Given the description of an element on the screen output the (x, y) to click on. 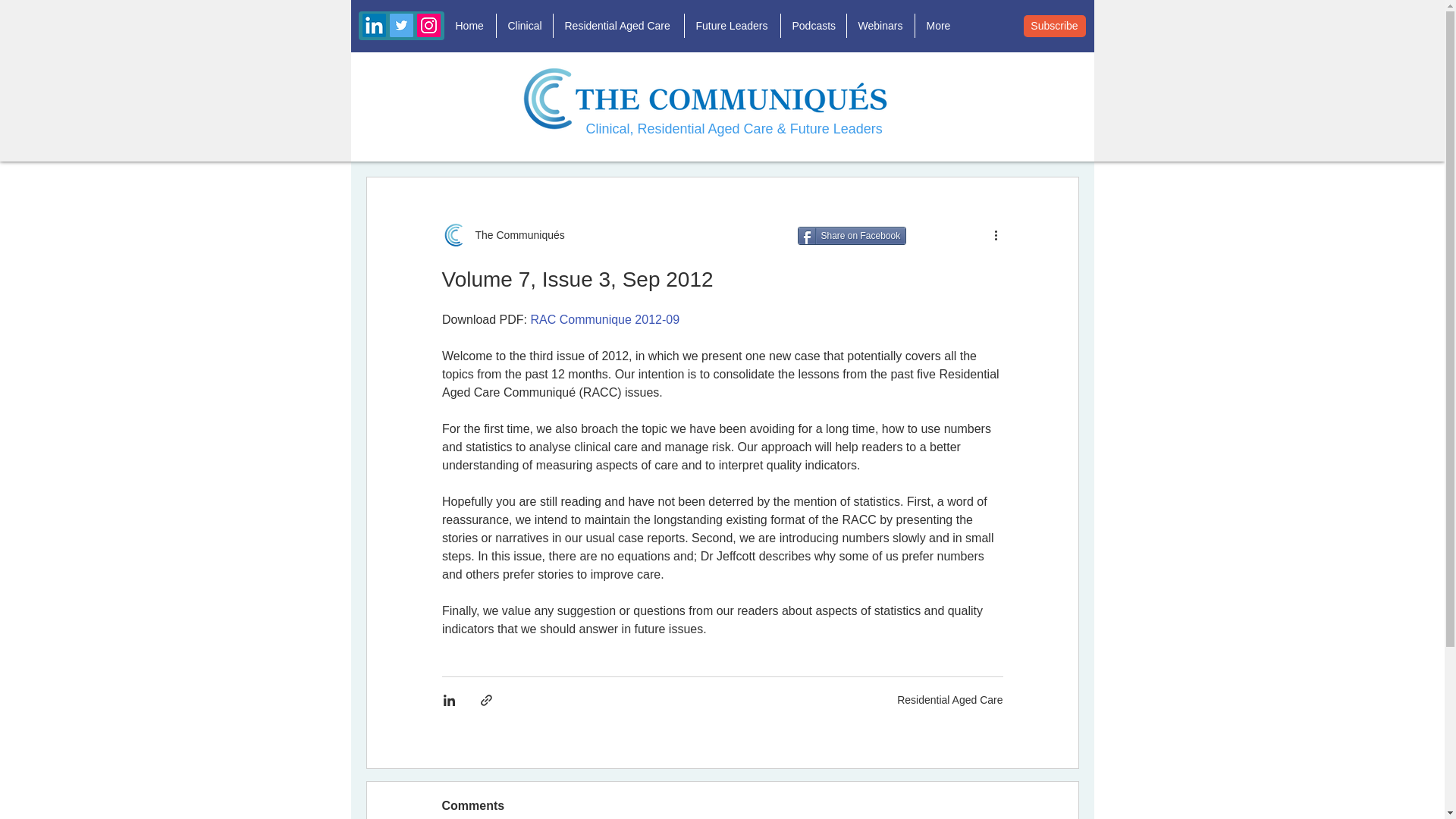
Share on Facebook (852, 235)
Future Leaders (731, 25)
Clinical (523, 25)
Share on Facebook (852, 235)
Residential Aged Care (949, 698)
Webinars (879, 25)
Residential Aged Care (618, 25)
Twitter Tweet (947, 235)
Subscribe (1054, 25)
RAC Communique 2012-09 (604, 318)
Home (470, 25)
